Given the description of an element on the screen output the (x, y) to click on. 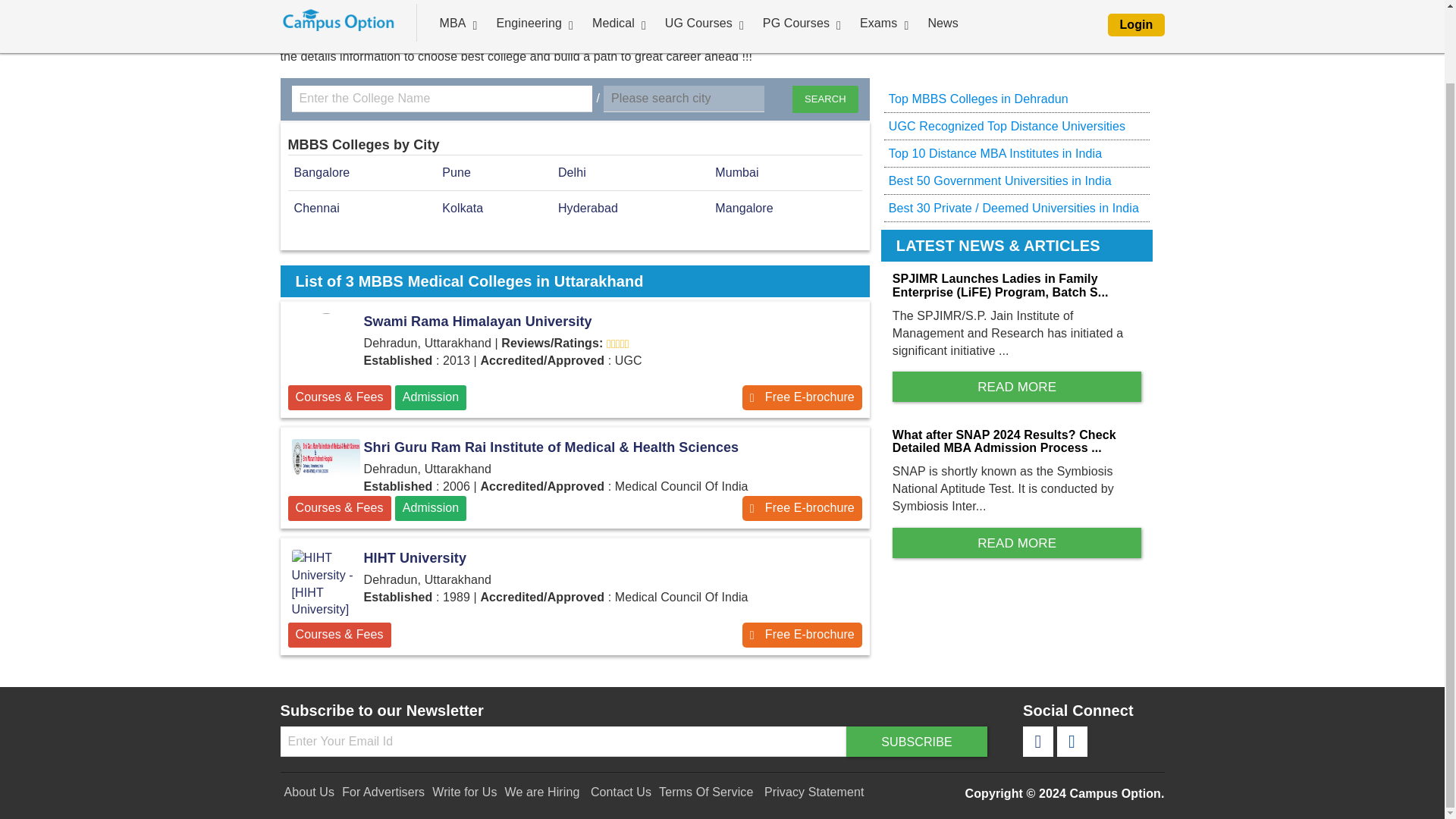
HIHT University (326, 584)
HIHT University (801, 634)
mbbs Medical Colleges in Pune (456, 172)
Search (825, 99)
Swami Rama Himalayan University (574, 321)
HIHT University (574, 558)
mbbs Medical Colleges in Mumbai (736, 172)
mbbs Medical Colleges in Delhi (571, 172)
mbbs Medical Colleges in Bangalore (322, 172)
mbbs Medical Colleges in Hyderabad (587, 207)
mbbs Medical Colleges in Kolkata (462, 207)
Swami Rama Himalayan University (326, 346)
Top MBBS Colleges in Dehradun (978, 98)
Swami Rama Himalayan University (801, 397)
mbbs Medical Colleges in Jaipur (743, 207)
